Given the description of an element on the screen output the (x, y) to click on. 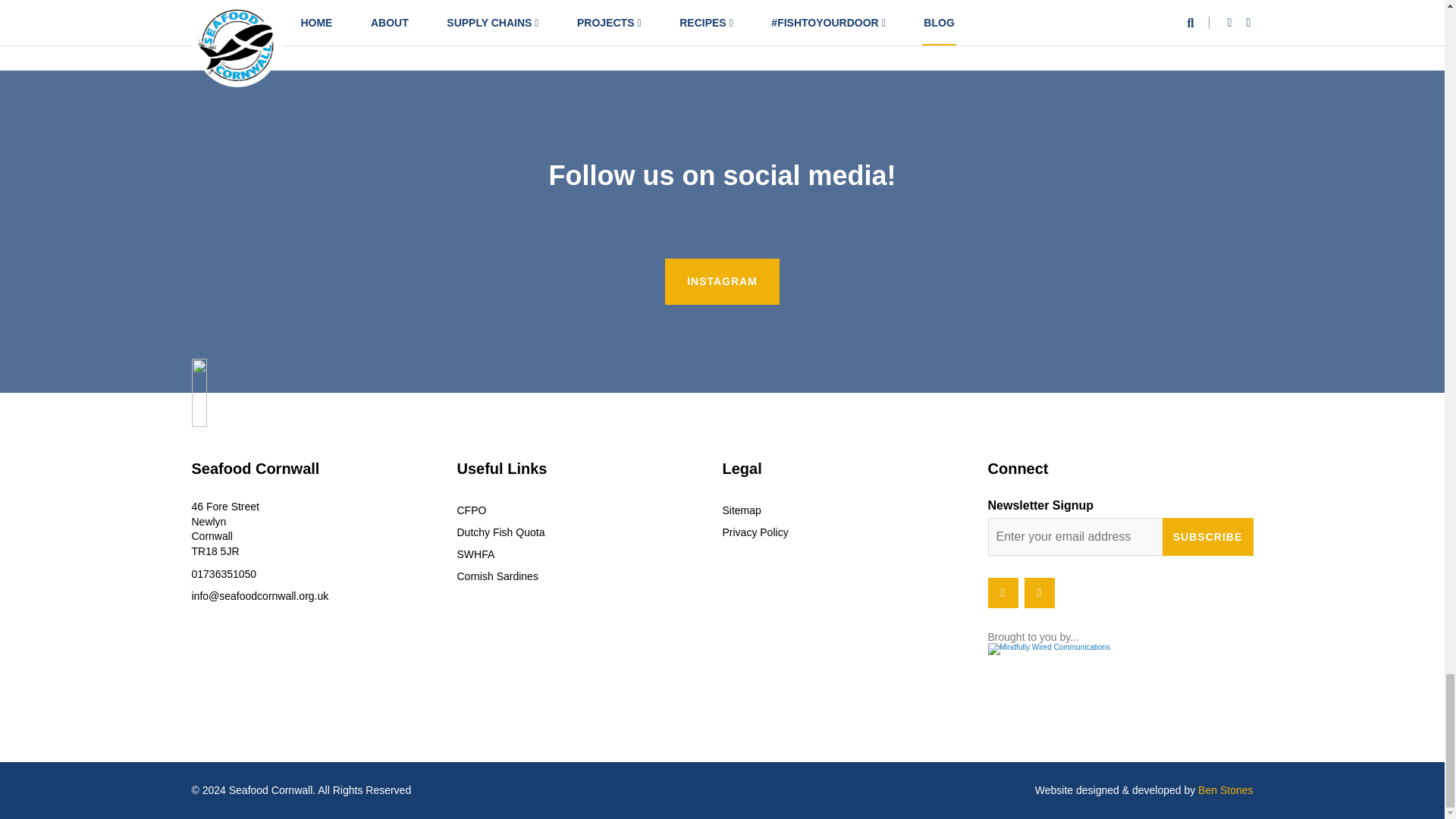
Subscribe (1206, 536)
Brought to you by Mindfully Wired Communications (1119, 663)
